Given the description of an element on the screen output the (x, y) to click on. 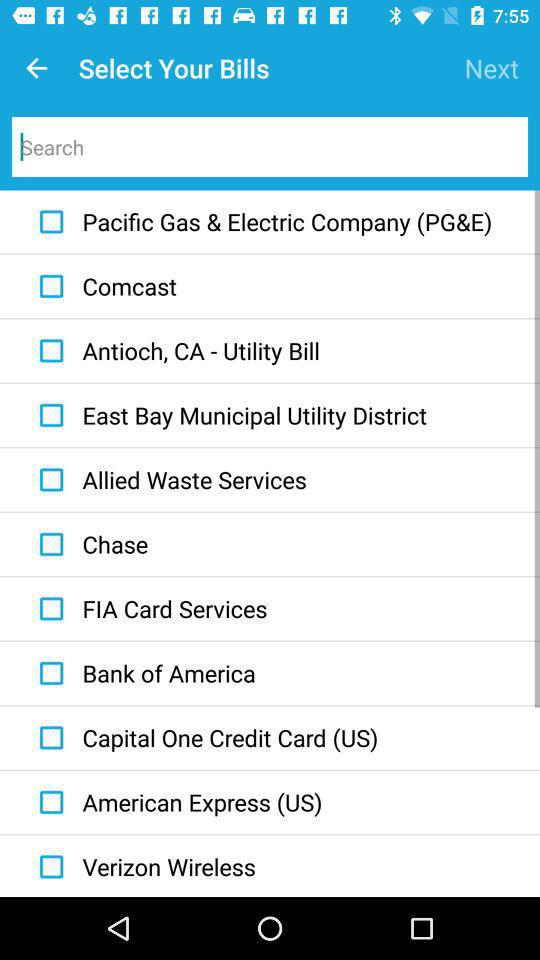
search (270, 147)
